Given the description of an element on the screen output the (x, y) to click on. 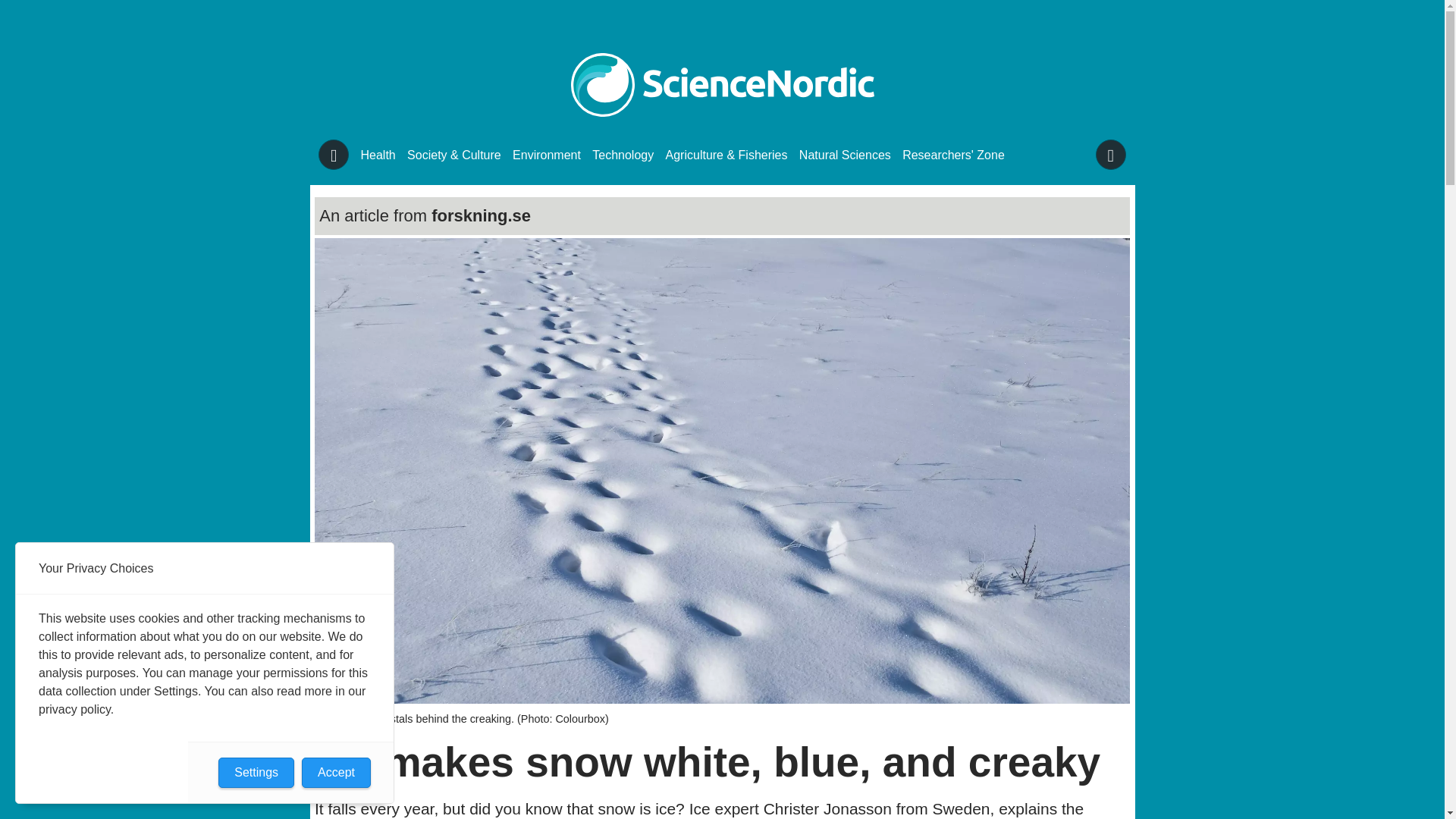
Technology (622, 154)
Environment (546, 154)
Researchers' Zone (953, 154)
Natural Sciences (845, 154)
Health (378, 154)
